Given the description of an element on the screen output the (x, y) to click on. 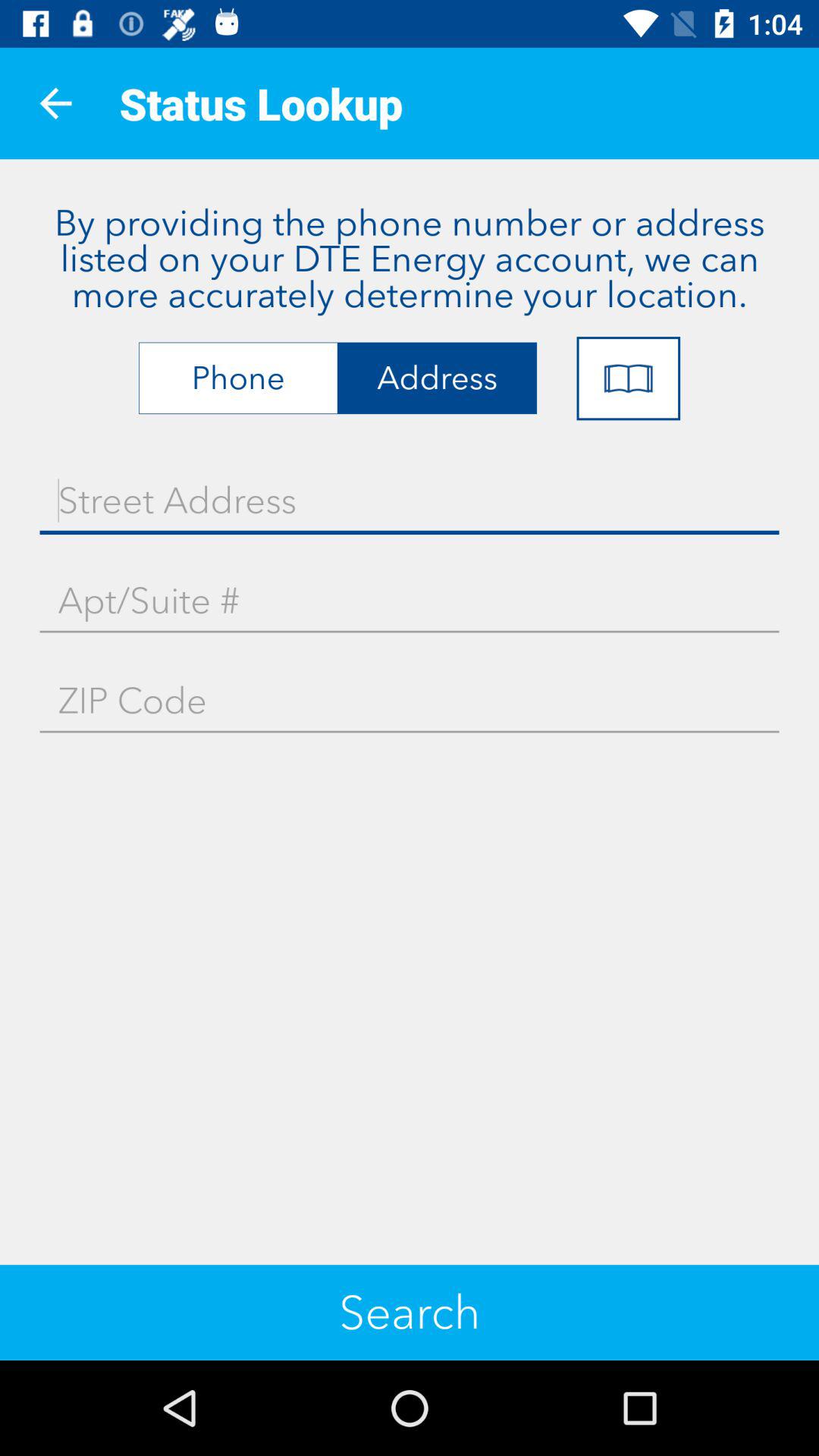
turn on the icon next to the status lookup app (55, 103)
